Given the description of an element on the screen output the (x, y) to click on. 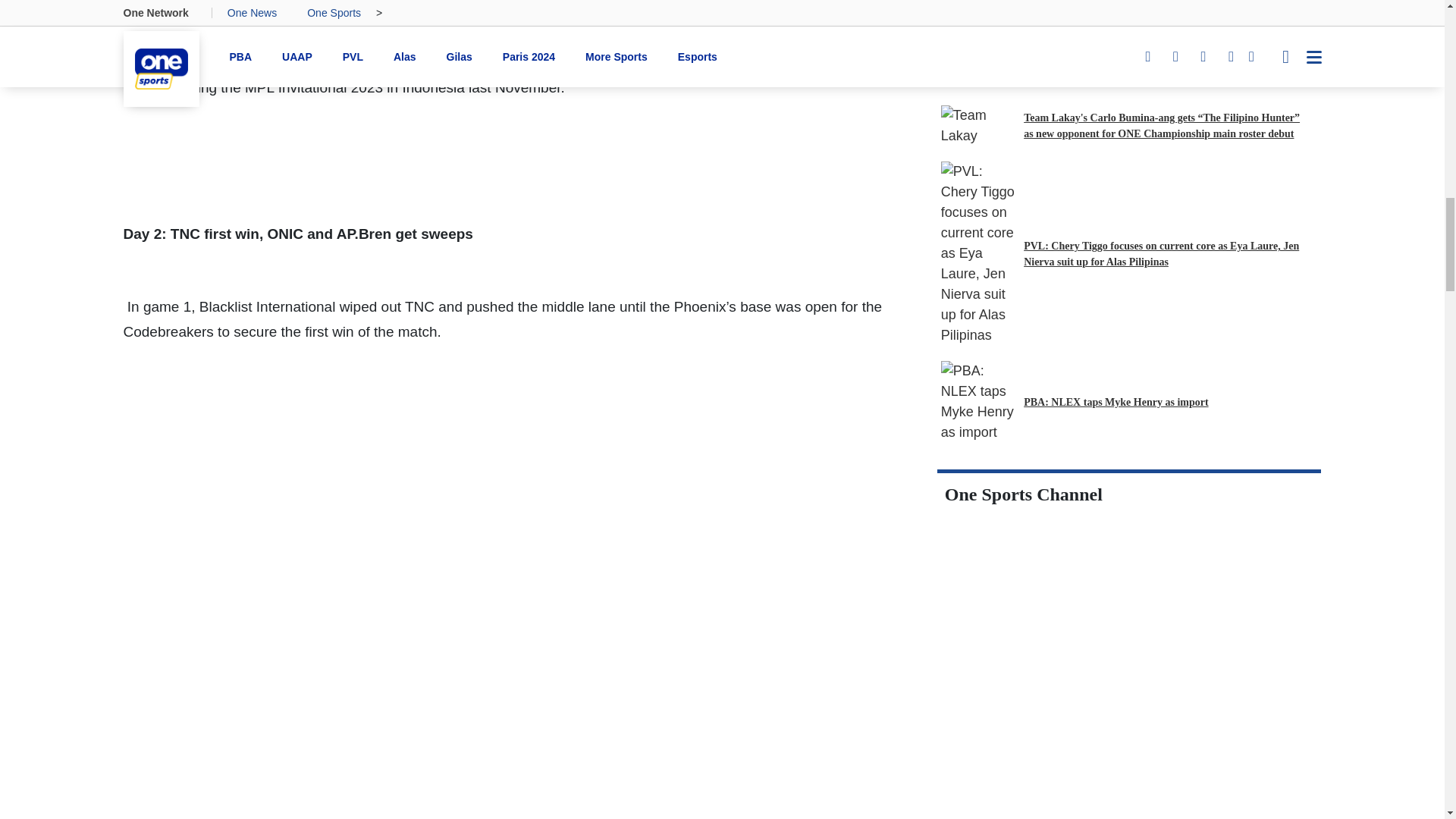
3rd party ad content (1128, 792)
